Given the description of an element on the screen output the (x, y) to click on. 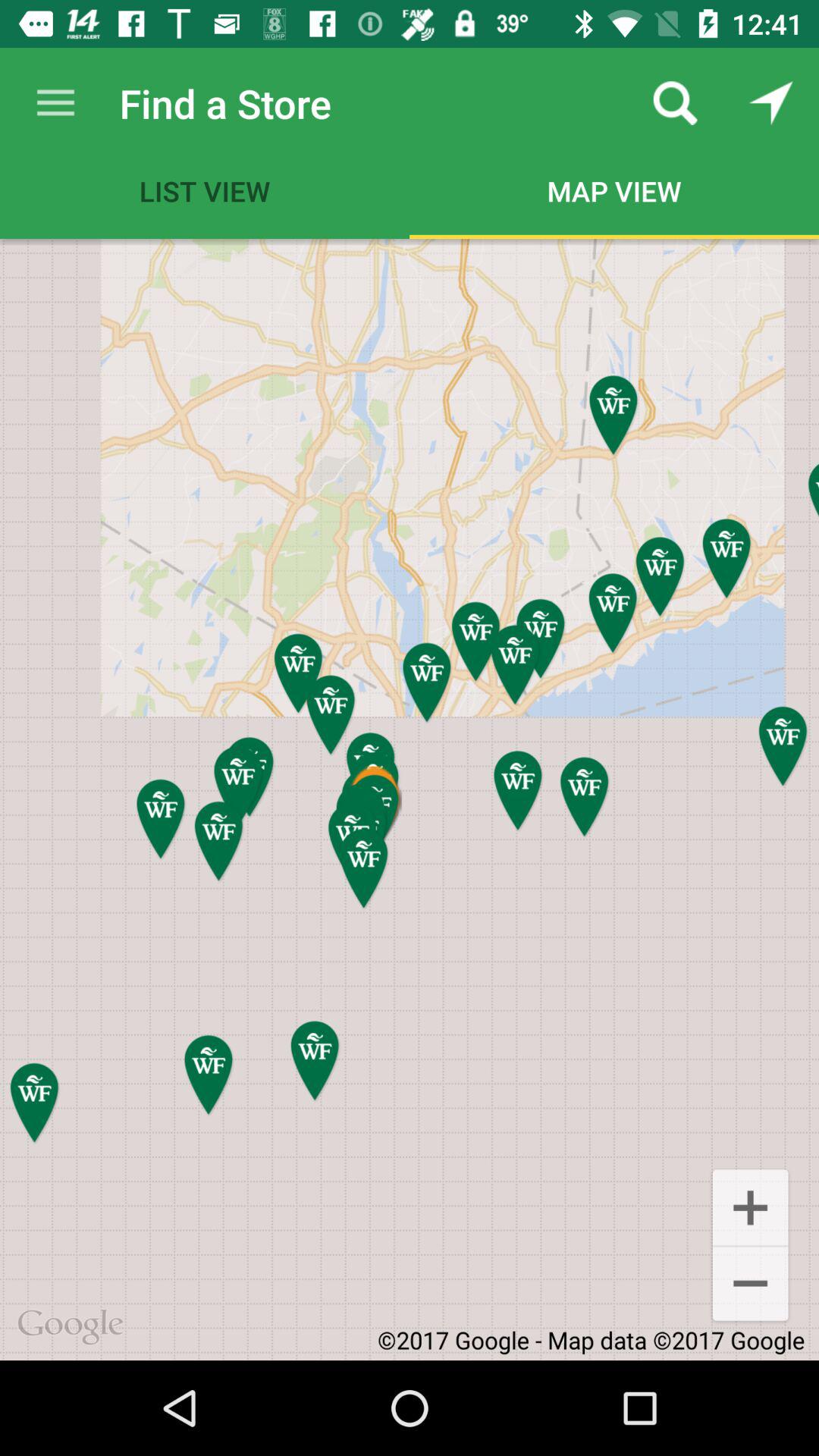
turn off the app next to the find a store icon (675, 103)
